Given the description of an element on the screen output the (x, y) to click on. 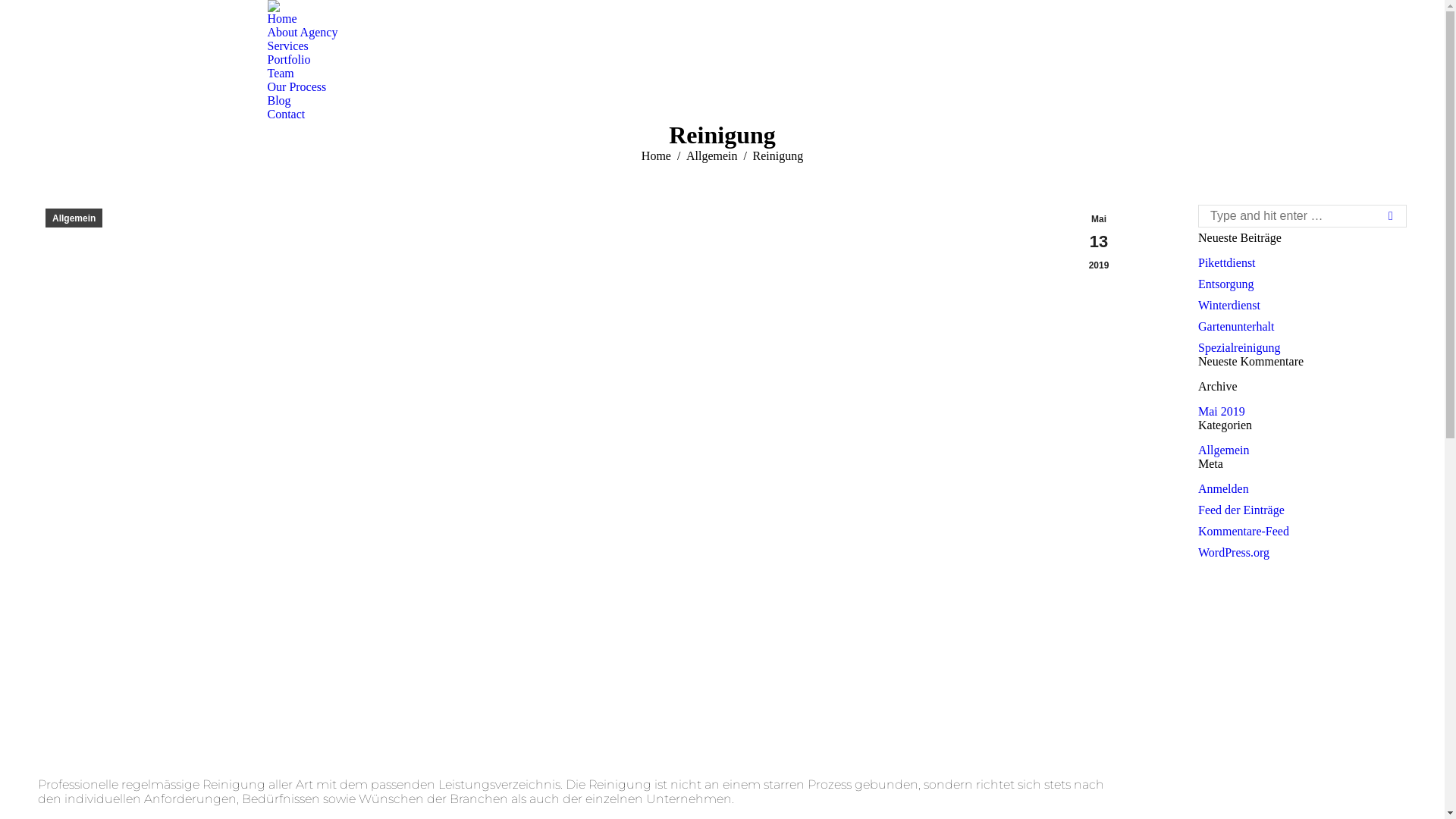
Entsorgung Element type: text (1225, 284)
WordPress.org Element type: text (1233, 552)
Allgemein Element type: text (711, 155)
Team Element type: text (279, 73)
Gartenunterhalt Element type: text (1236, 326)
Contact Element type: text (285, 114)
Home Element type: text (281, 18)
Winterdienst Element type: text (1229, 305)
Go! Element type: text (1385, 215)
Allgemein Element type: text (1223, 450)
About Agency Element type: text (301, 32)
Pikettdienst Element type: text (1226, 262)
Anmelden Element type: text (1223, 488)
Our Process Element type: text (296, 87)
Allgemein Element type: text (73, 217)
Mai
13
2019 Element type: text (1098, 242)
Services Element type: text (286, 46)
Home Element type: text (656, 155)
Blog Element type: text (278, 100)
Mai 2019 Element type: text (1221, 411)
Portfolio Element type: text (288, 59)
Spezialreinigung Element type: text (1239, 347)
Kommentare-Feed Element type: text (1243, 531)
